Given the description of an element on the screen output the (x, y) to click on. 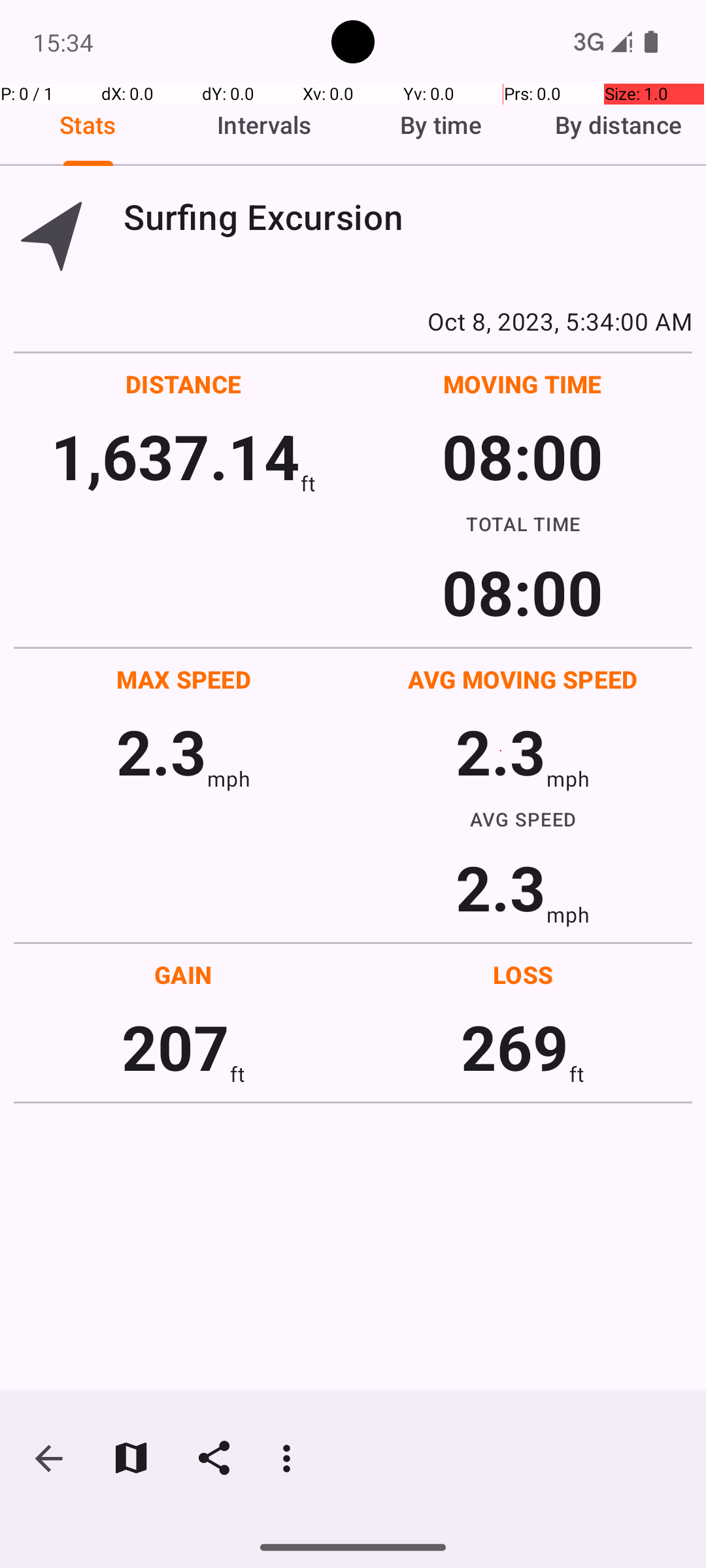
Surfing Excursion Element type: android.widget.TextView (407, 216)
Oct 8, 2023, 5:34:00 AM Element type: android.widget.TextView (352, 320)
1,637.14 Element type: android.widget.TextView (175, 455)
08:00 Element type: android.widget.TextView (522, 455)
2.3 Element type: android.widget.TextView (161, 750)
207 Element type: android.widget.TextView (175, 1045)
269 Element type: android.widget.TextView (514, 1045)
